Given the description of an element on the screen output the (x, y) to click on. 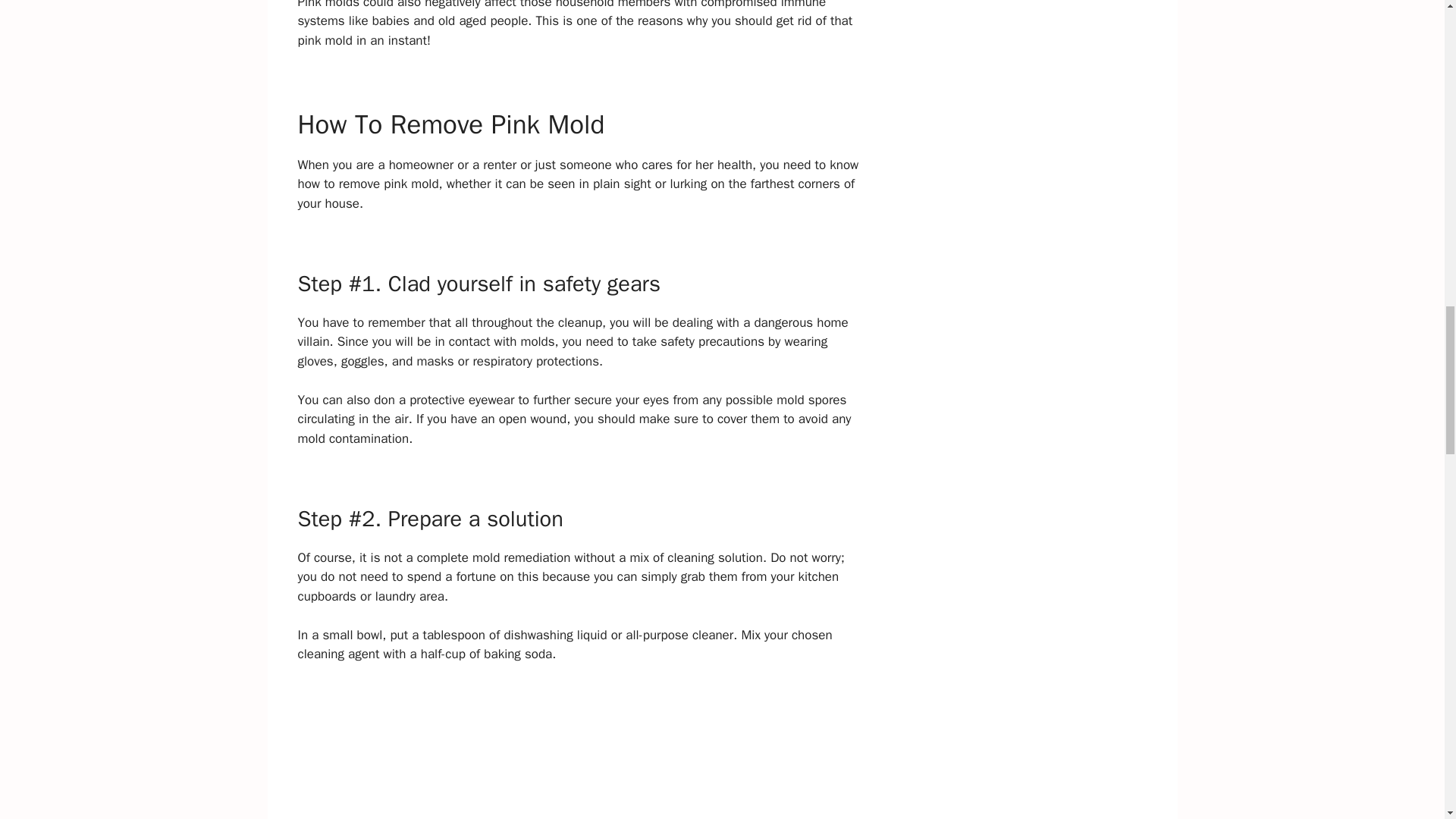
Advertisement (579, 751)
